Given the description of an element on the screen output the (x, y) to click on. 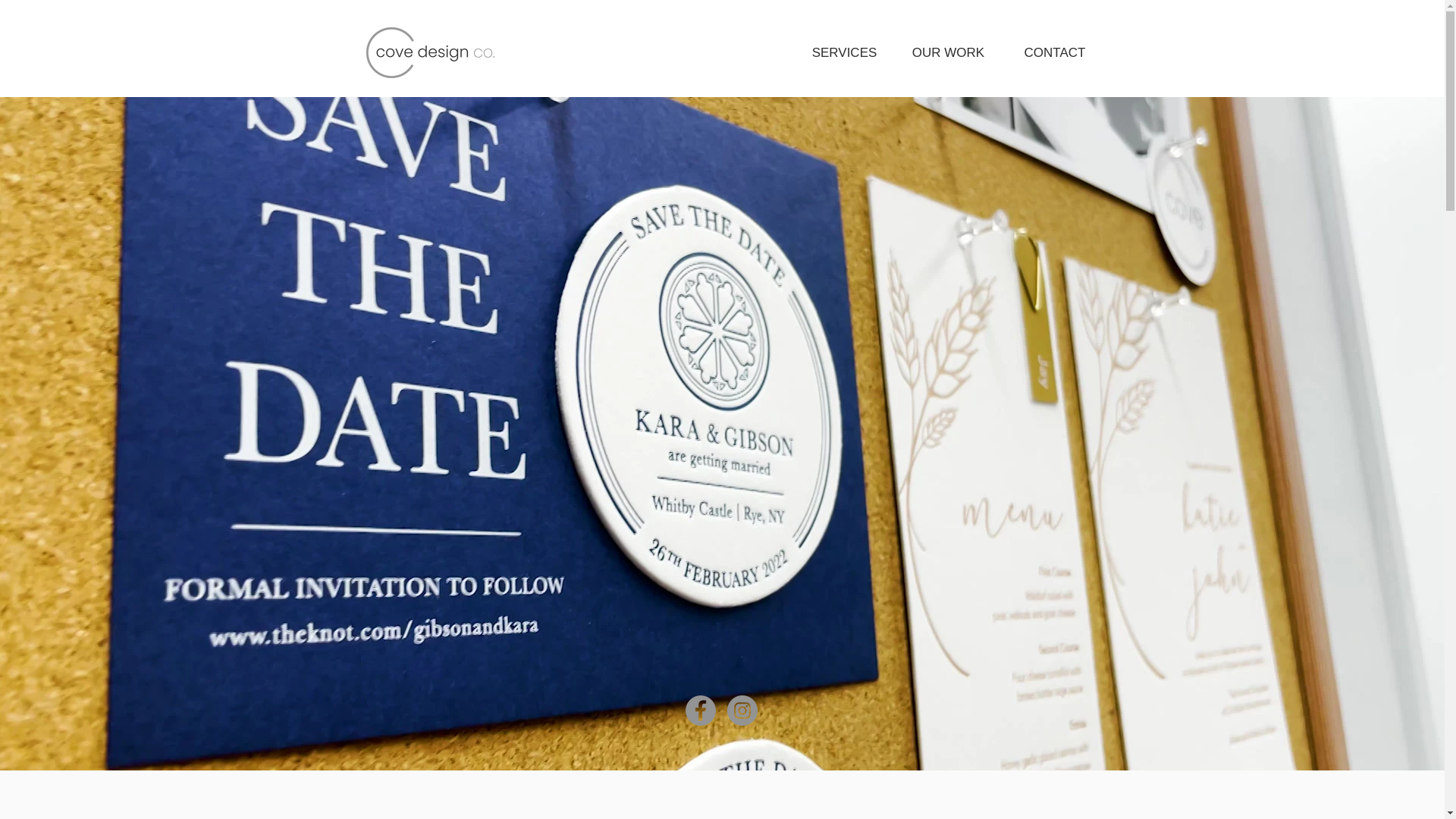
CONTACT (1054, 53)
SERVICES (843, 53)
OUR WORK (948, 53)
